Given the description of an element on the screen output the (x, y) to click on. 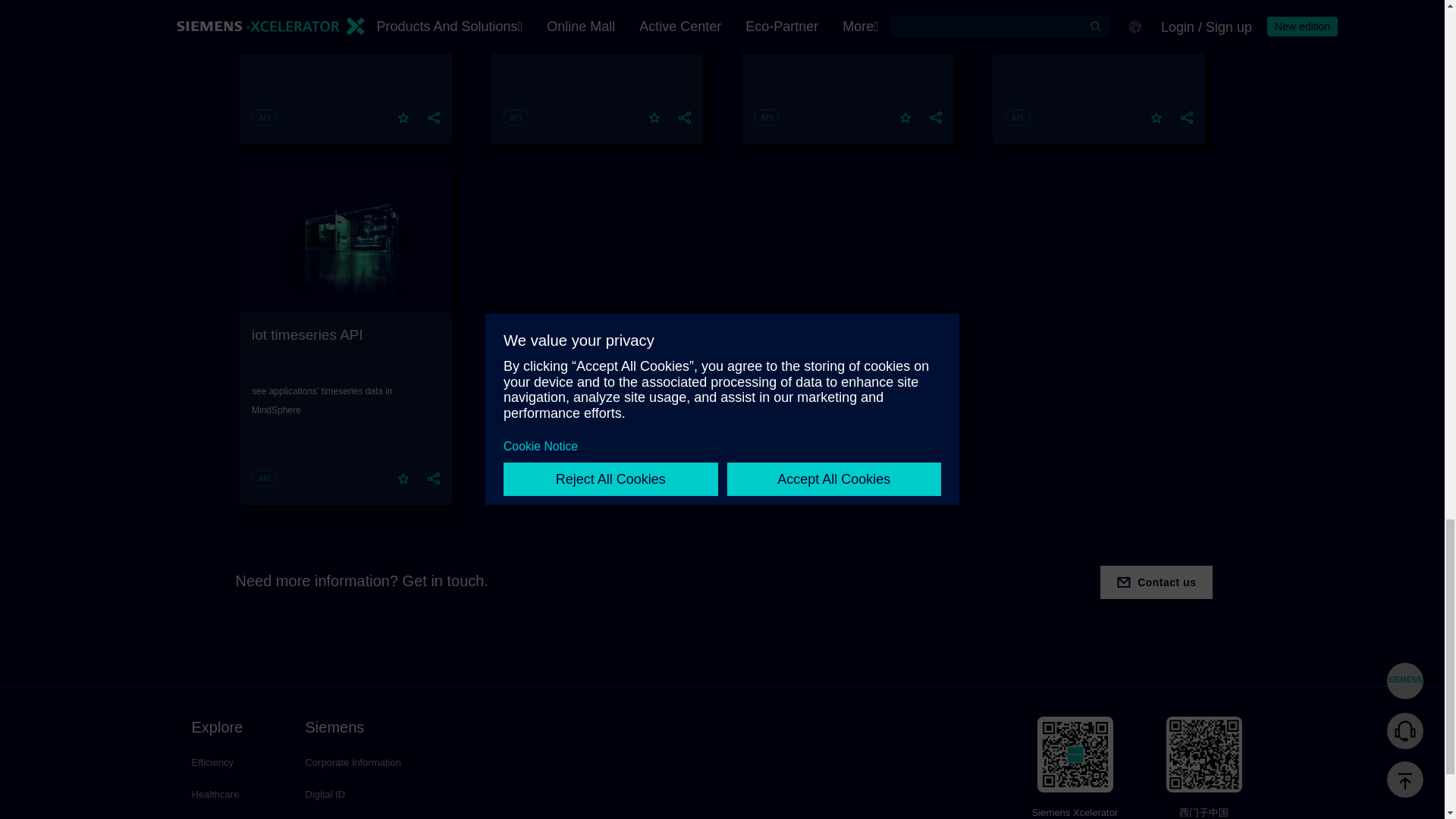
Digital ID (358, 794)
Healthcare (232, 794)
Efficiency (232, 762)
Corporate Information (358, 762)
Contact us (1155, 581)
